Given the description of an element on the screen output the (x, y) to click on. 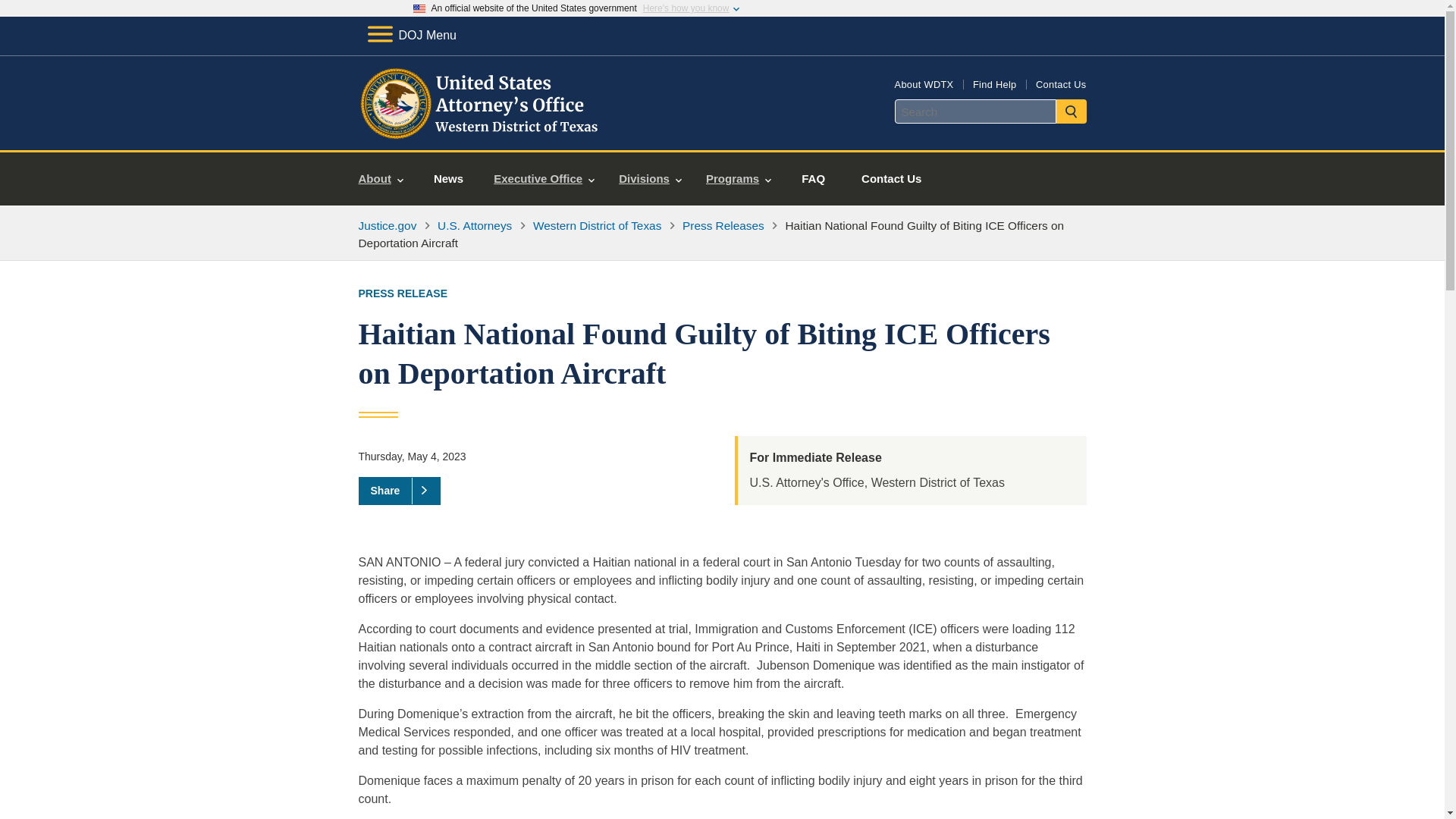
News (447, 179)
DOJ Menu (411, 35)
Share (398, 490)
About WDTX (924, 84)
Press Releases (723, 225)
About (380, 179)
Contact Us (891, 179)
Programs (738, 179)
U.S. Attorneys (475, 225)
Contact Us (1060, 84)
FAQ (813, 179)
Home (481, 132)
Divisions (650, 179)
Here's how you know (686, 8)
Western District of Texas (596, 225)
